Given the description of an element on the screen output the (x, y) to click on. 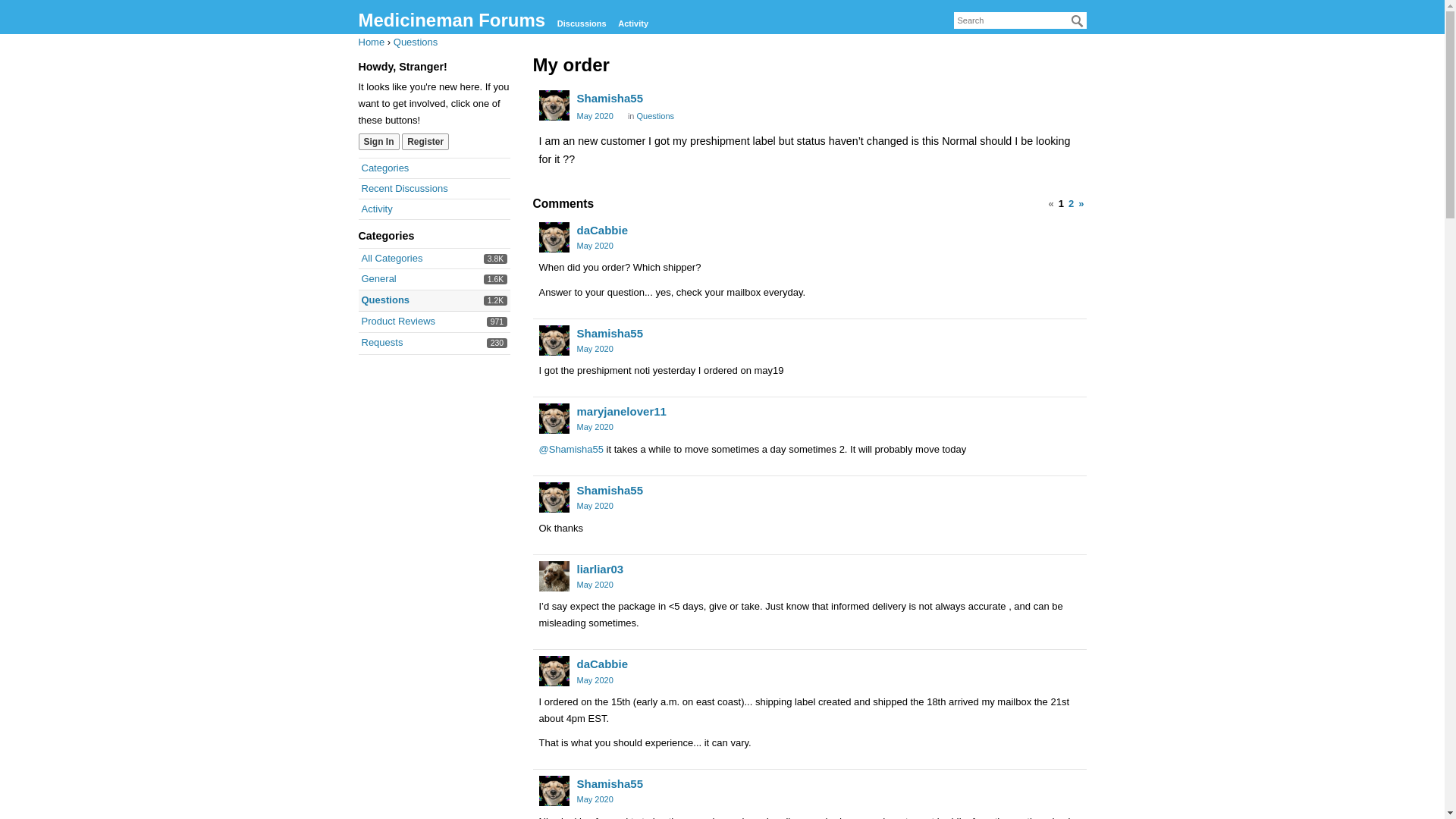
3,799 discussions (495, 258)
971 discussions (496, 321)
Activity (632, 23)
Discussions (582, 23)
May 22, 2020  2:40PM (594, 245)
liarliar03 (599, 568)
Categories (385, 167)
Activity (376, 208)
Questions (391, 257)
Questions (415, 41)
May 2020 (656, 115)
Shamisha55 (594, 505)
Shamisha55 (553, 340)
May 22, 2020  3:32PM (609, 490)
